Given the description of an element on the screen output the (x, y) to click on. 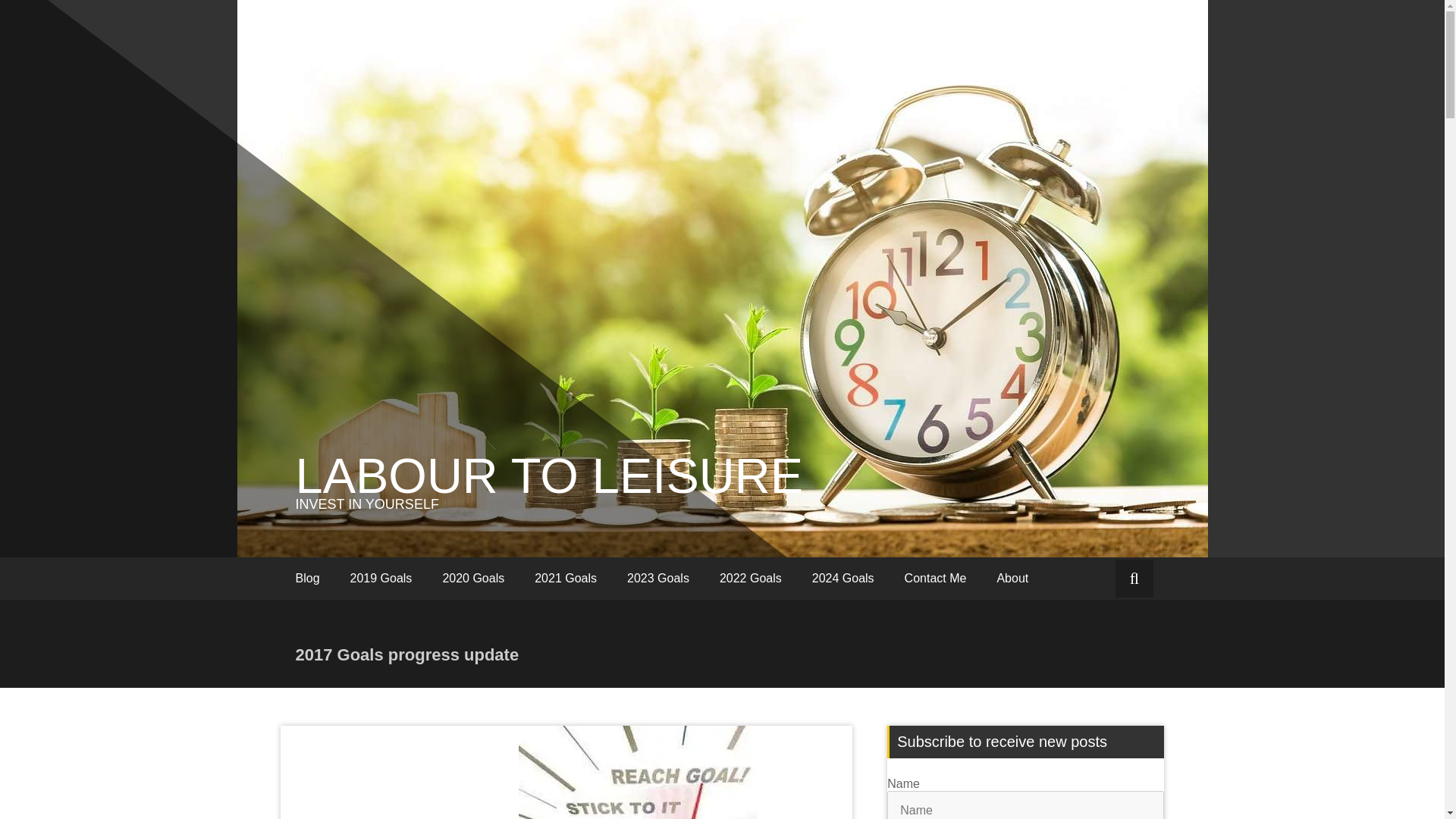
LABOUR TO LEISURE (549, 475)
2022 Goals (750, 578)
2023 Goals (657, 578)
Contact Me (935, 578)
2021 Goals (565, 578)
2019 Goals (381, 578)
Blog (307, 578)
About (1012, 578)
2024 Goals (842, 578)
2020 Goals (472, 578)
